Given the description of an element on the screen output the (x, y) to click on. 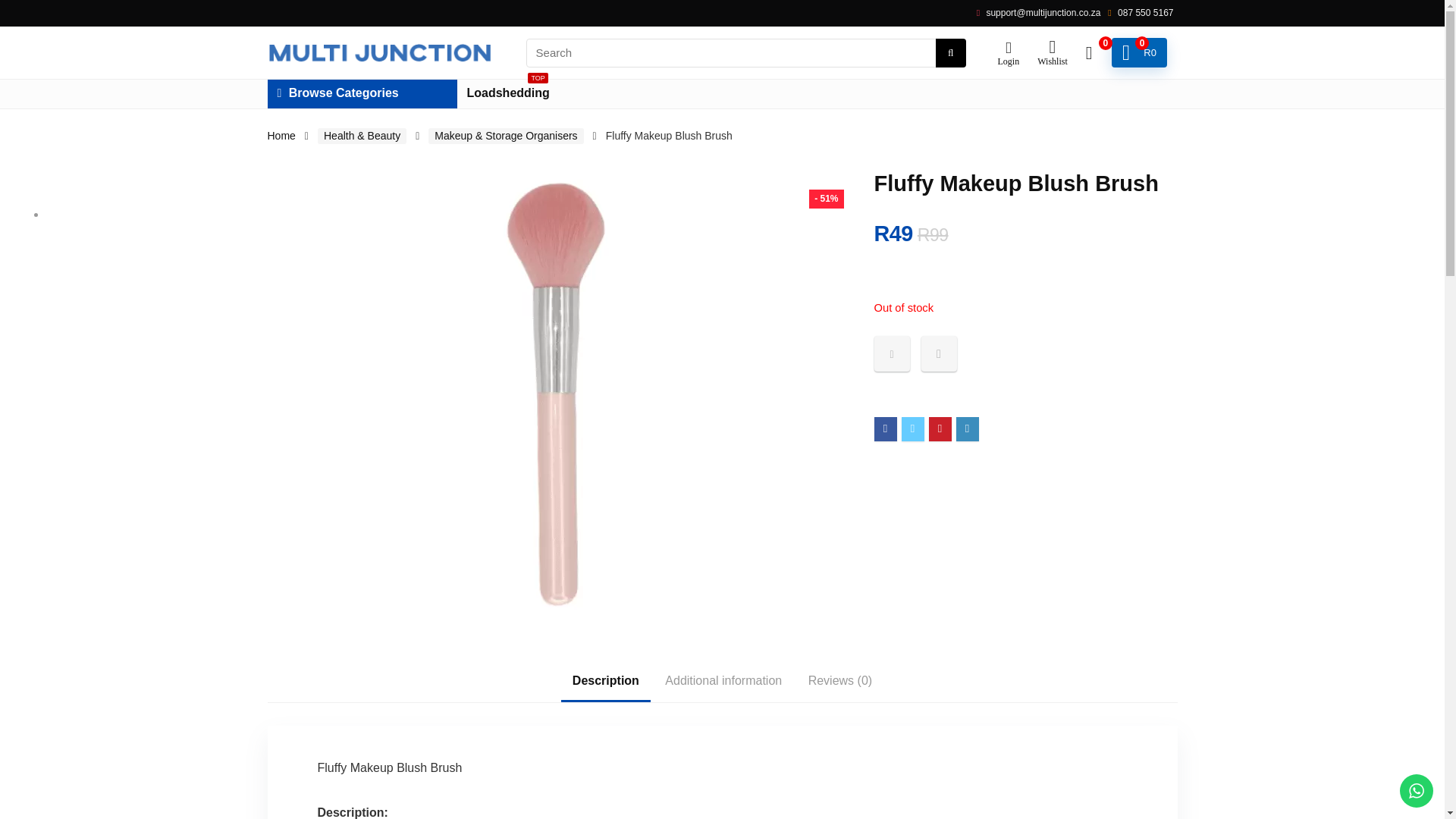
Home (280, 135)
WhatsApp us (1415, 790)
087 550 5167 (1145, 12)
Browse Categories (360, 93)
Additional information (508, 93)
Description (723, 680)
